Given the description of an element on the screen output the (x, y) to click on. 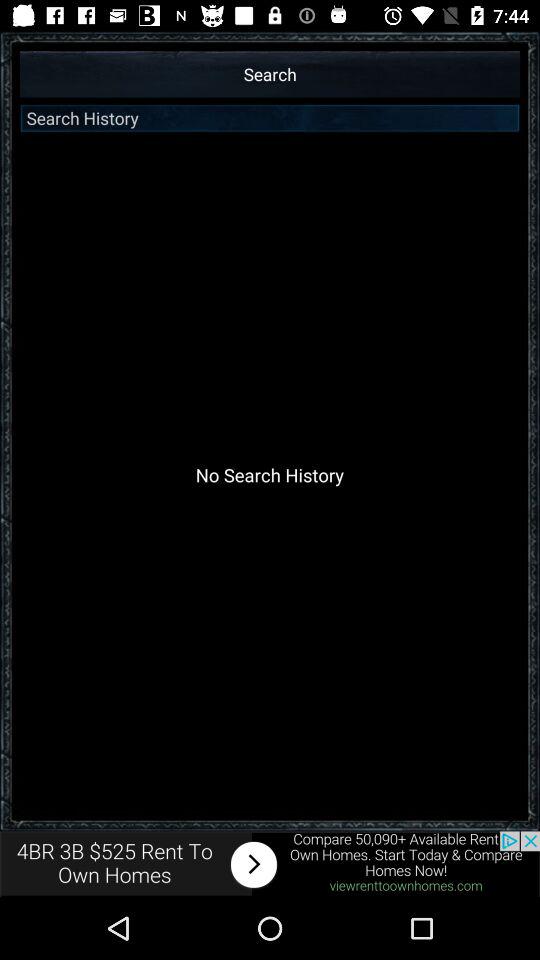
advertising (270, 864)
